Given the description of an element on the screen output the (x, y) to click on. 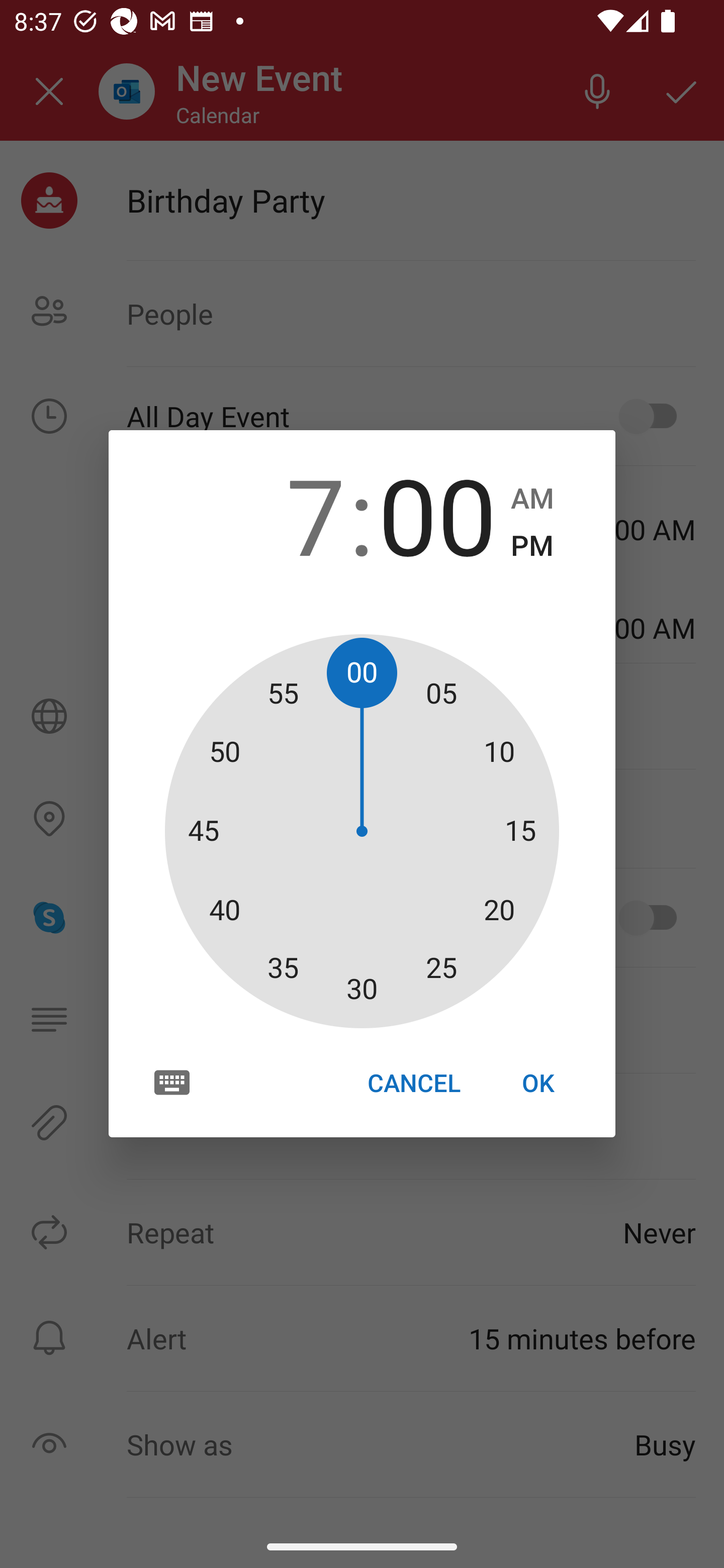
7 (285, 513)
00 (436, 513)
AM (532, 498)
PM (532, 546)
CANCEL (413, 1082)
OK (537, 1082)
Switch to text input mode for the time input. (171, 1081)
